Given the description of an element on the screen output the (x, y) to click on. 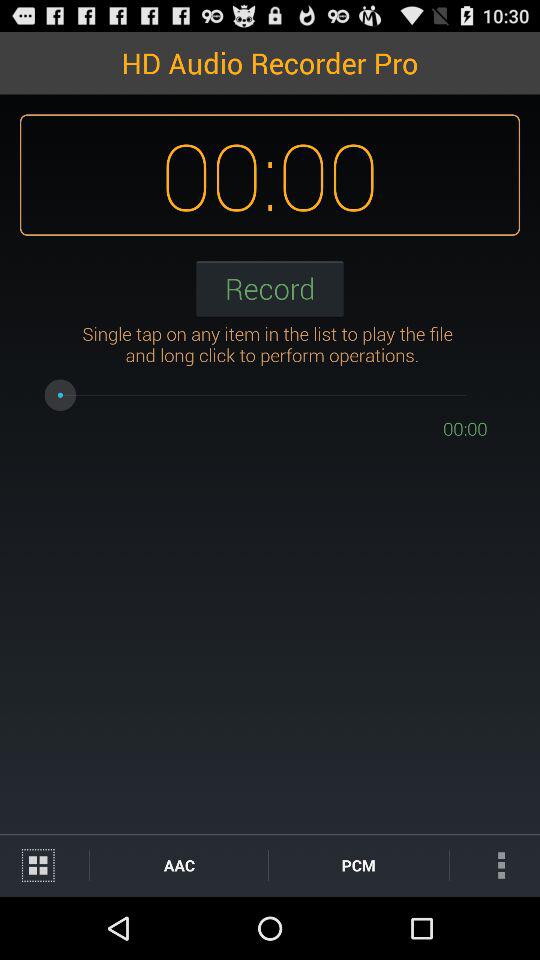
click pcm at the bottom (358, 864)
